Given the description of an element on the screen output the (x, y) to click on. 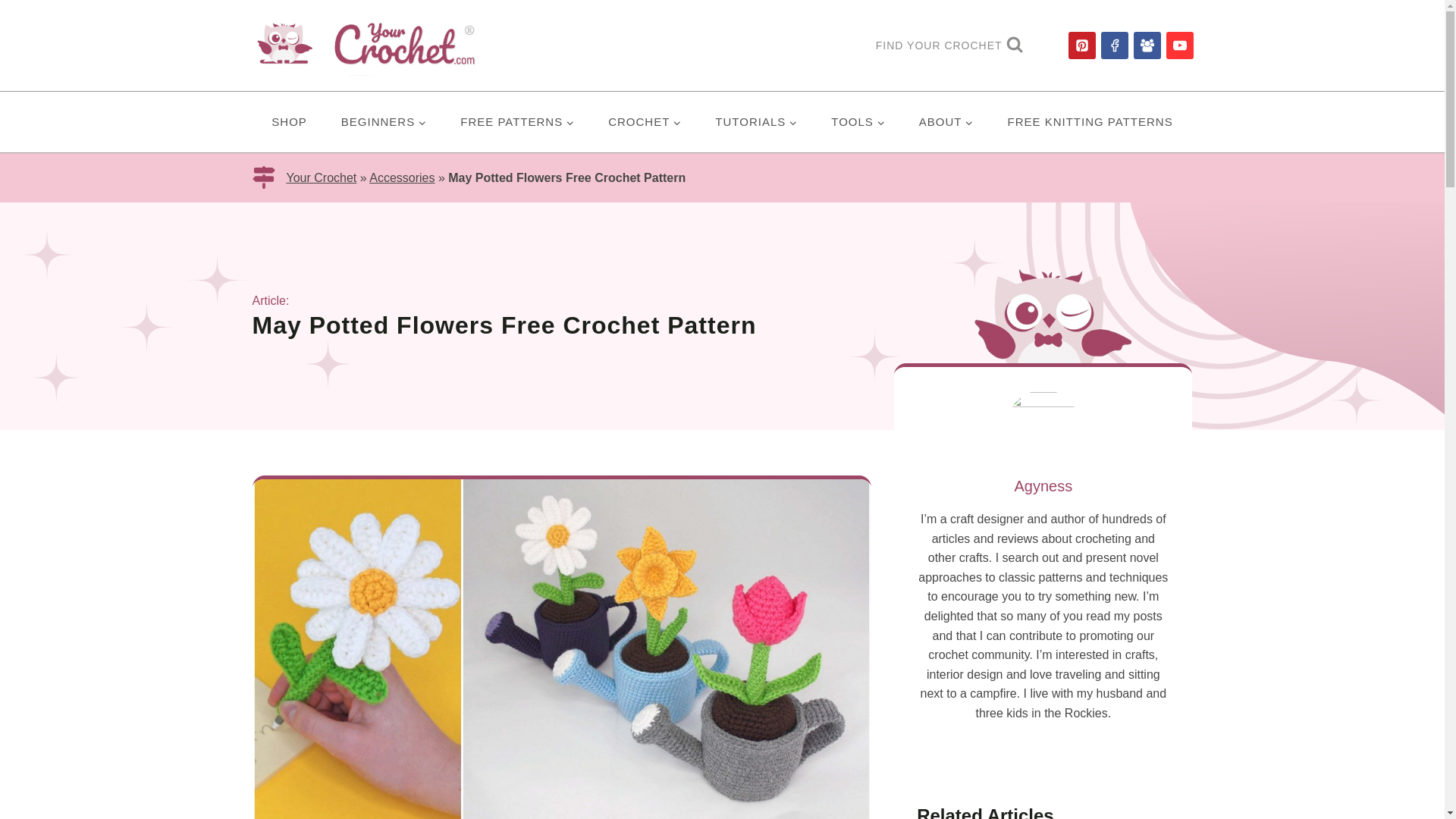
SHOP (289, 120)
FREE PATTERNS (517, 120)
BEGINNERS (382, 120)
CROCHET (644, 120)
FIND YOUR CROCHET (949, 45)
